Given the description of an element on the screen output the (x, y) to click on. 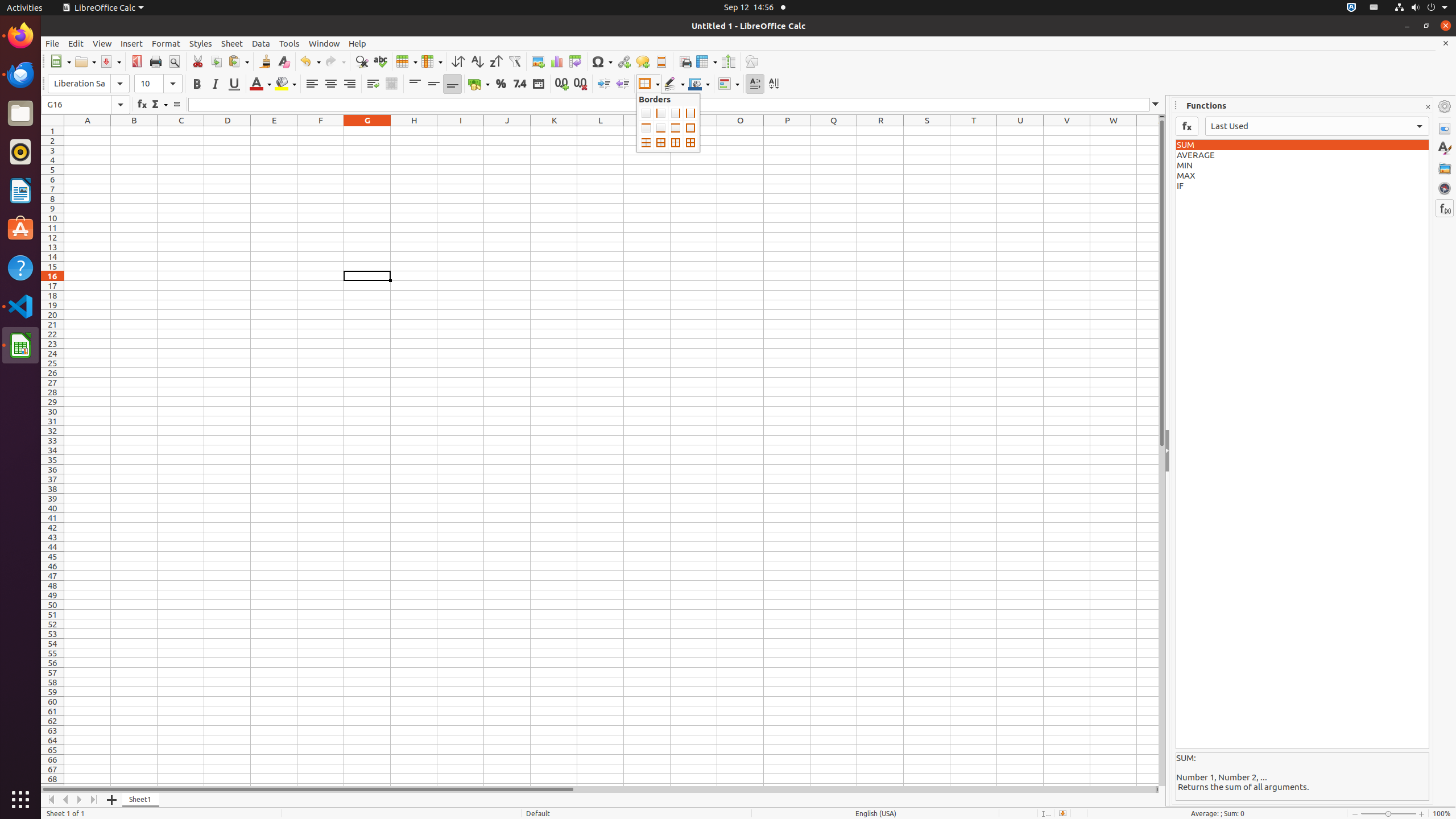
X1 Element type: table-cell (1147, 130)
